Given the description of an element on the screen output the (x, y) to click on. 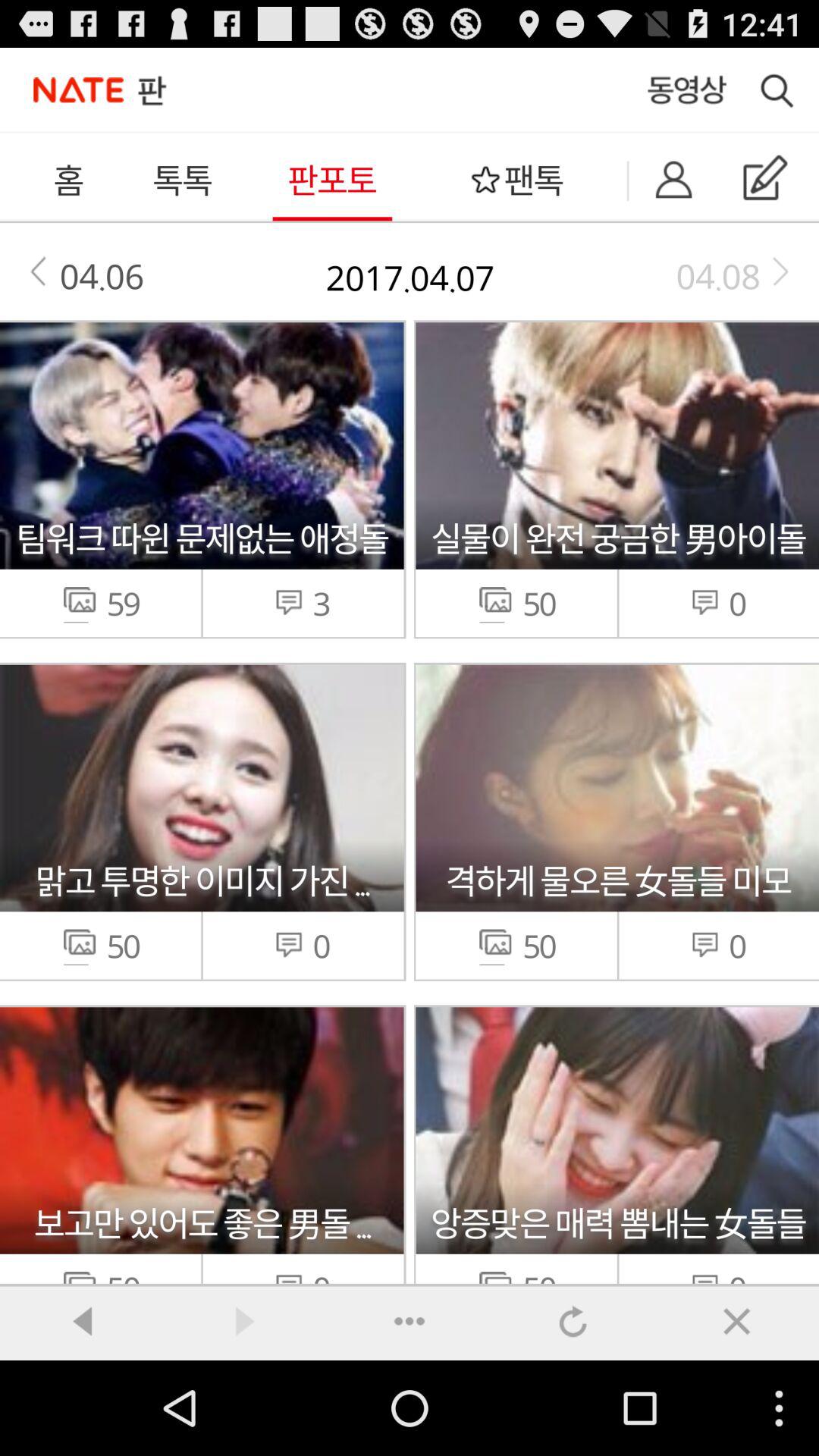
options bar (409, 1320)
